Given the description of an element on the screen output the (x, y) to click on. 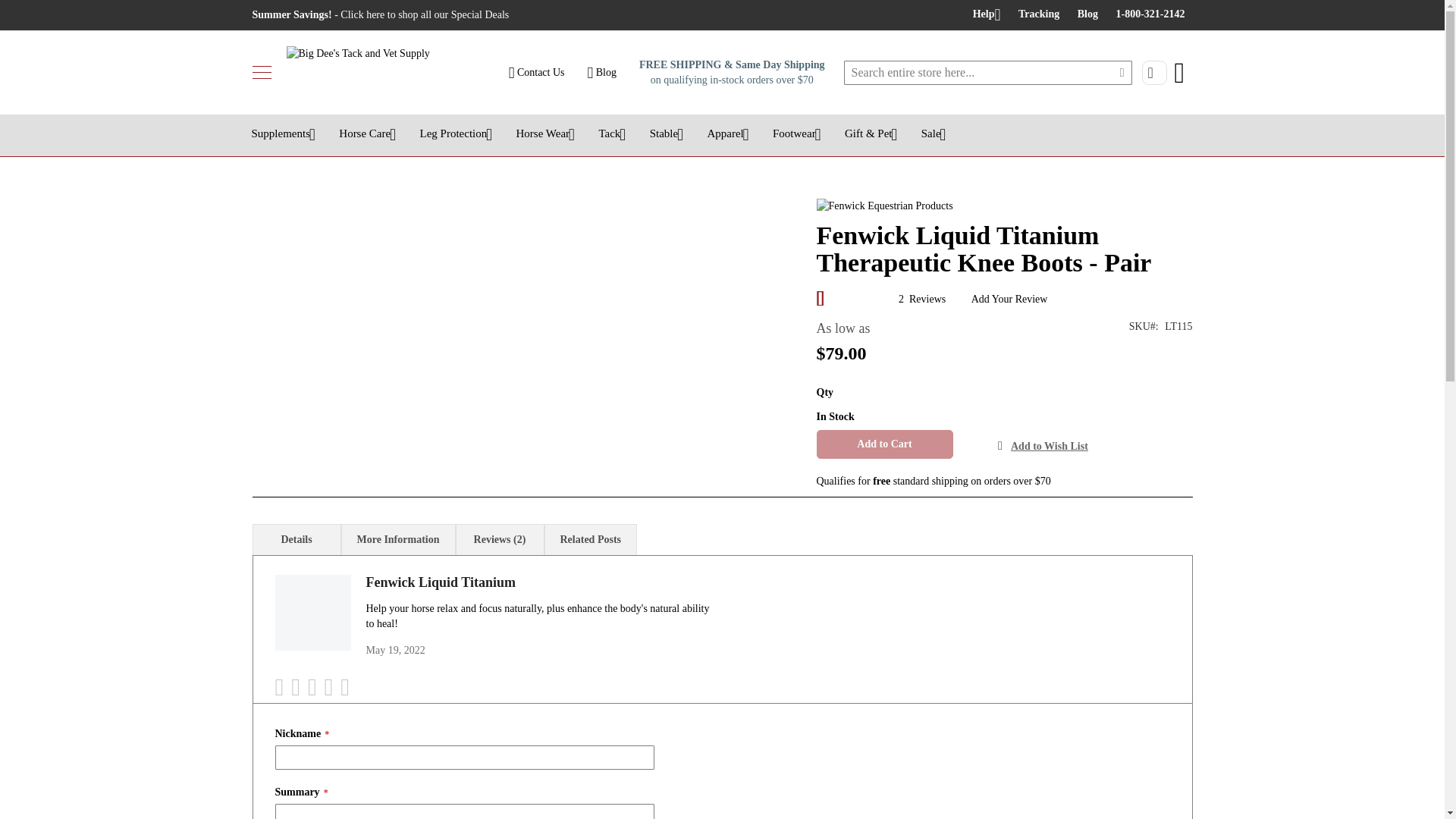
Blog (1087, 14)
Call (1150, 14)
Tracking (1038, 14)
Summer Savings! (379, 15)
Contact Us (536, 71)
Summer Savings! - Click here to shop all our Special Deals (379, 15)
Blog (1087, 14)
